Given the description of an element on the screen output the (x, y) to click on. 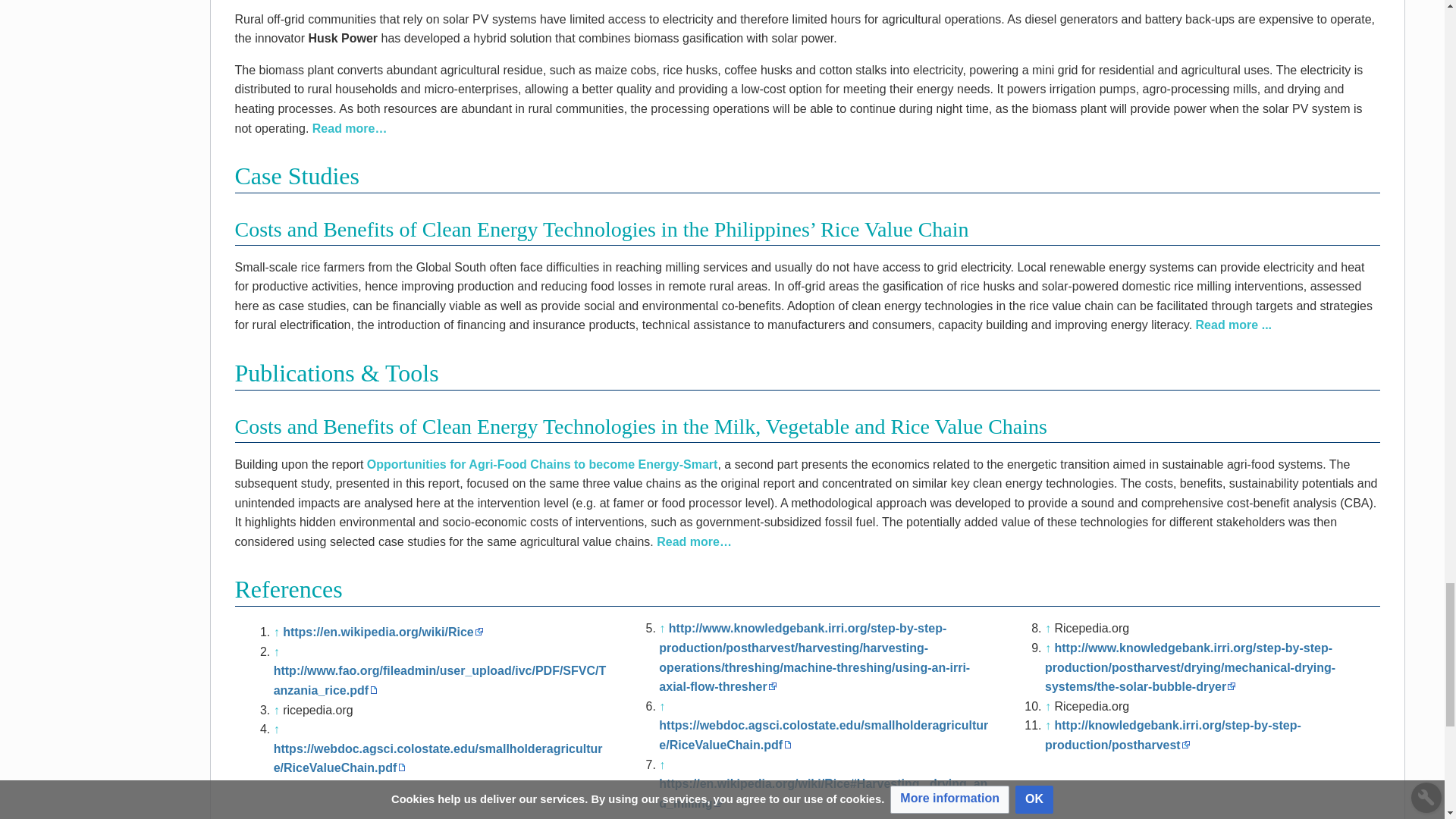
Opportunities for Agri-Food Chains to become Energy-Smart (541, 463)
